Given the description of an element on the screen output the (x, y) to click on. 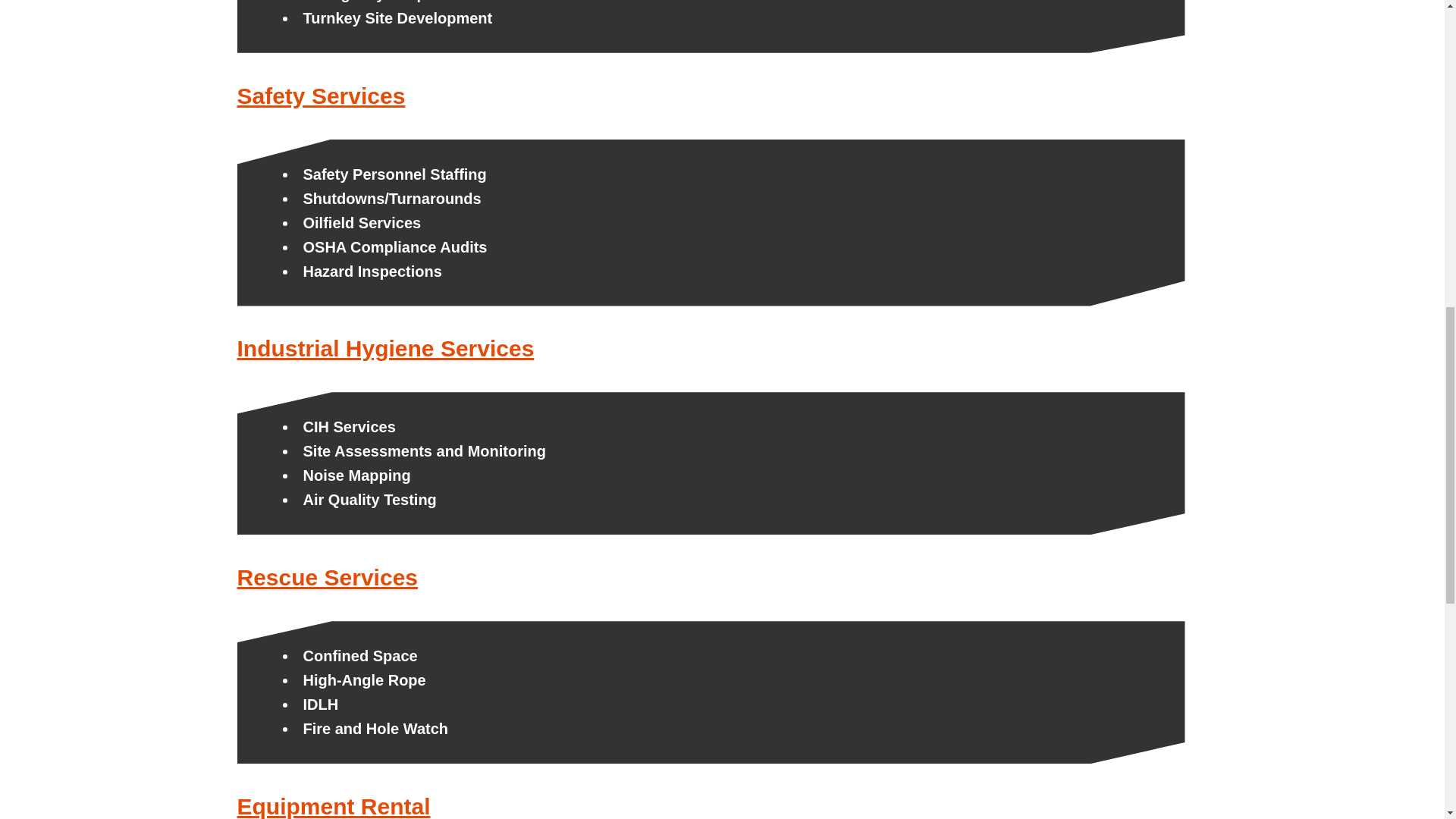
Safety Services (319, 95)
Industrial Hygiene Services (384, 348)
Equipment Rental (332, 806)
Rescue Services (326, 577)
